Given the description of an element on the screen output the (x, y) to click on. 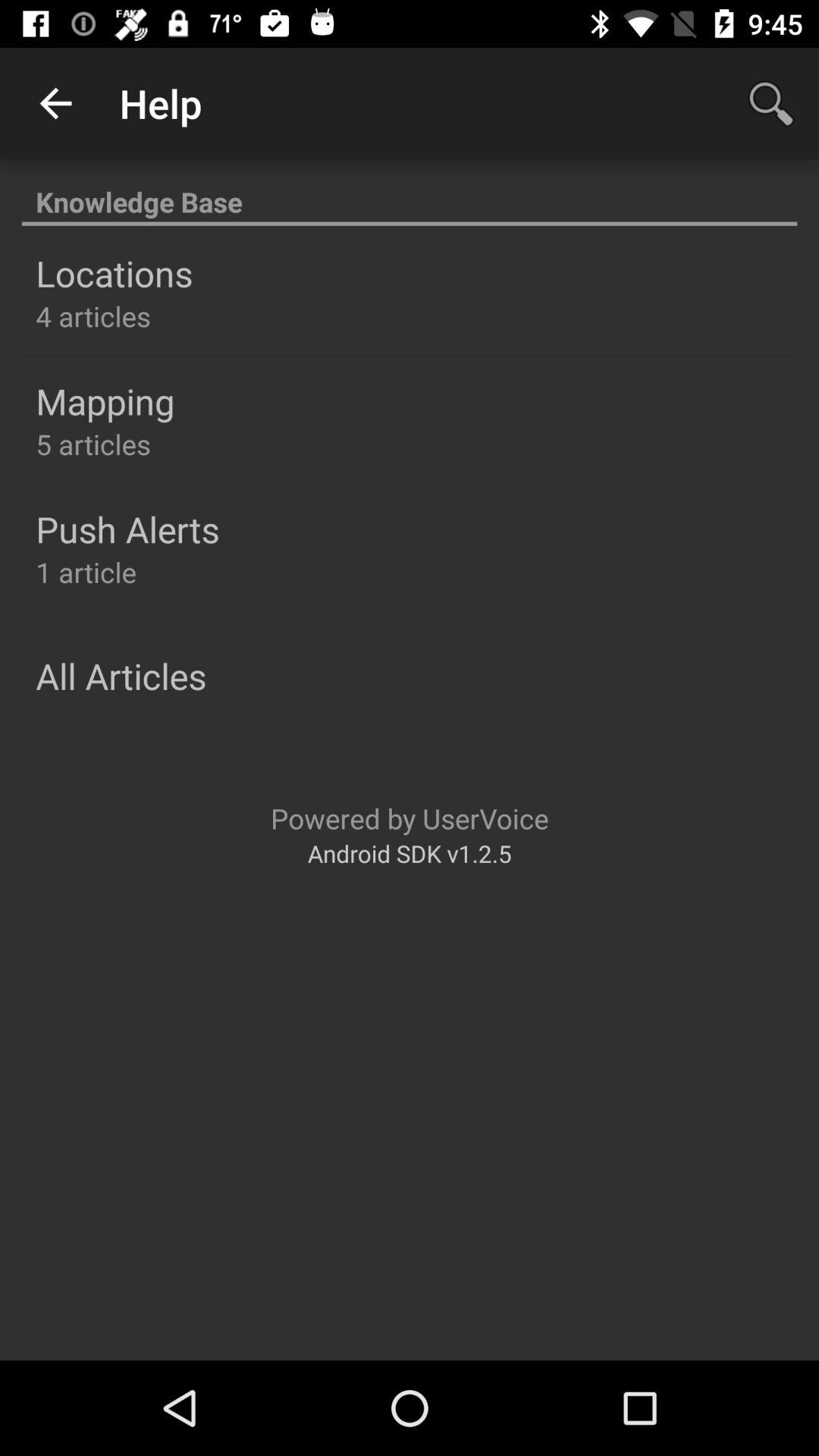
click the item below the locations item (92, 315)
